Given the description of an element on the screen output the (x, y) to click on. 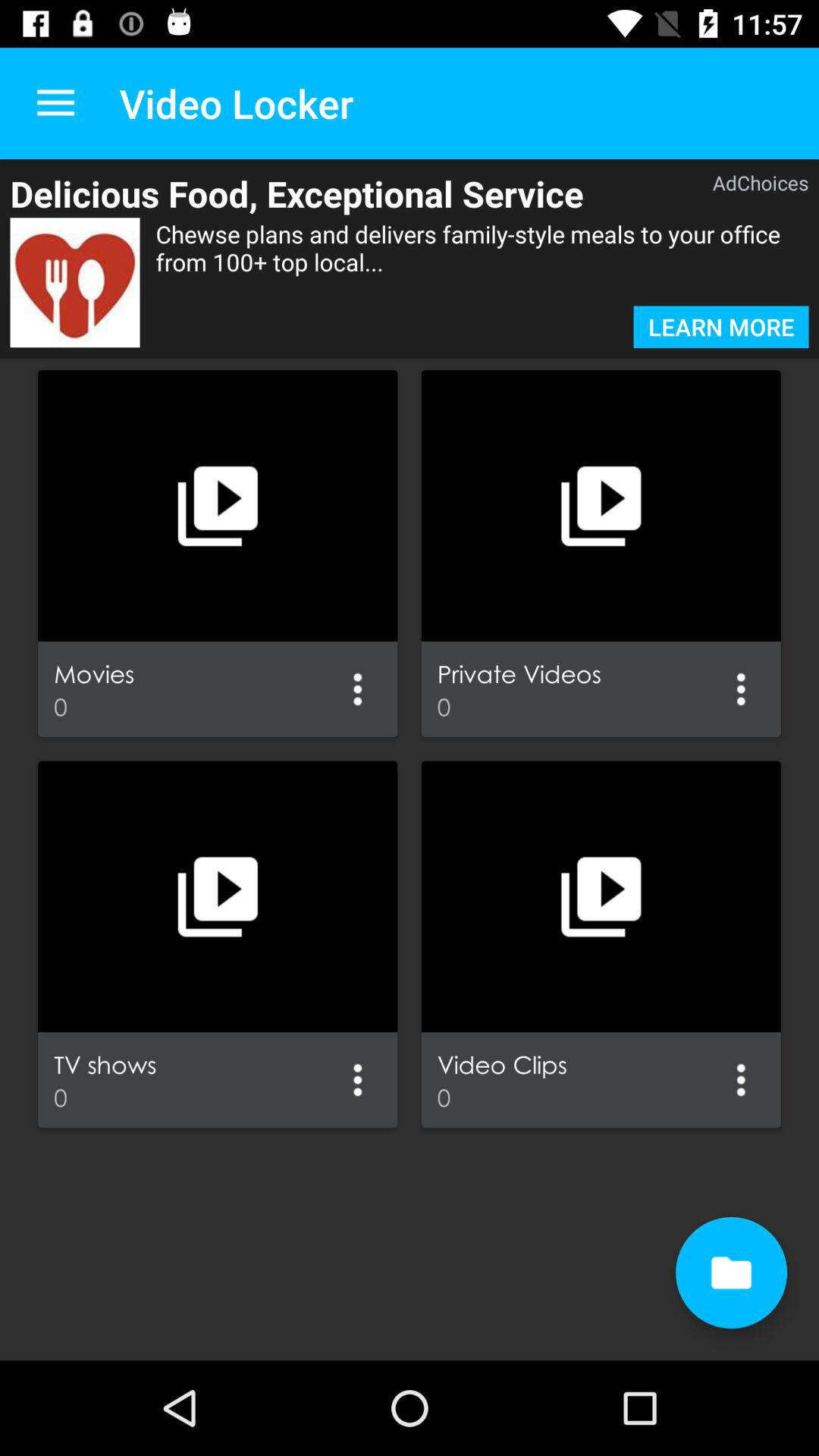
click on the save file button (731, 1272)
